Given the description of an element on the screen output the (x, y) to click on. 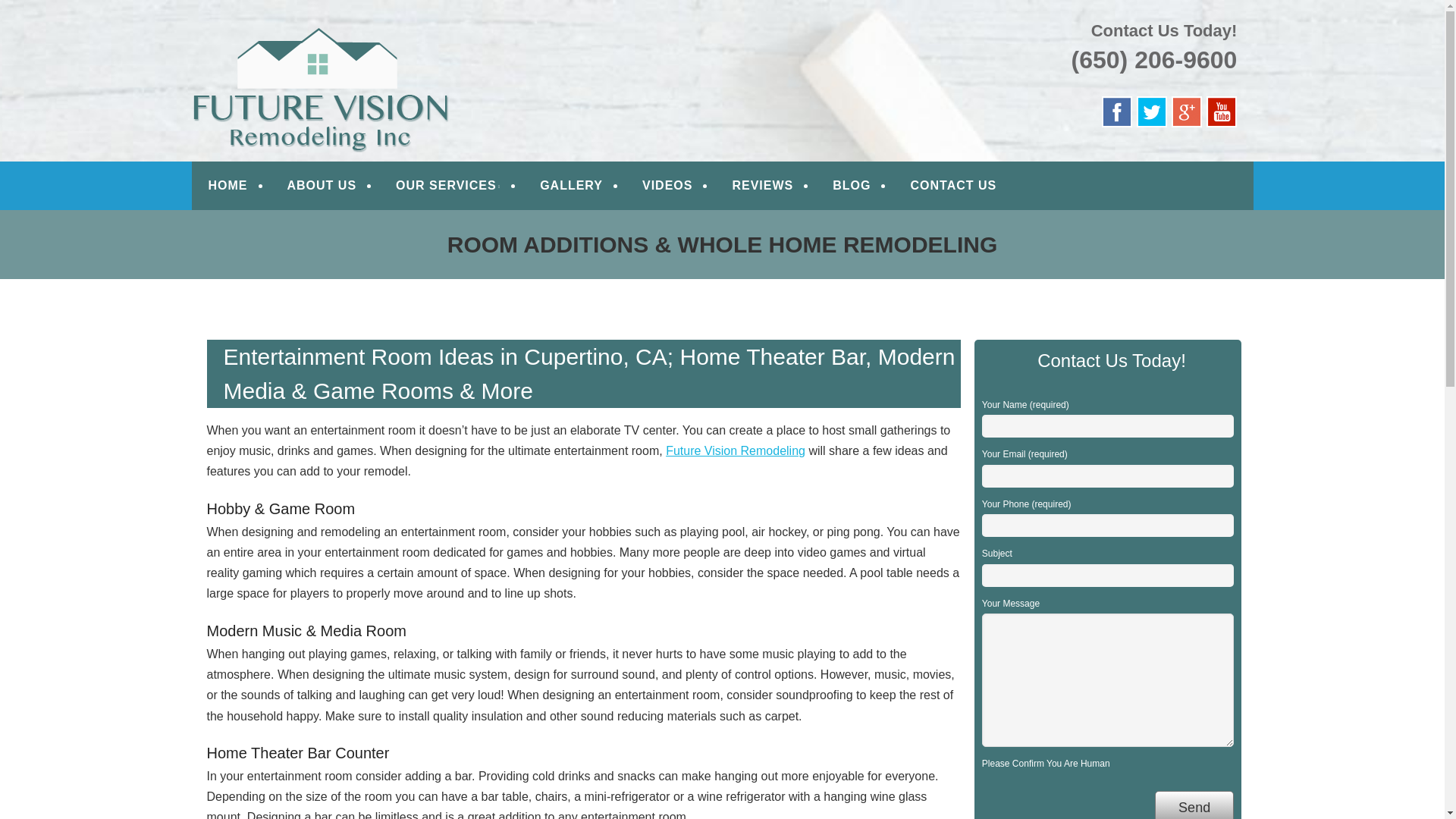
GALLERY (571, 185)
VIDEOS (667, 185)
Send (1193, 805)
CONTACT US (953, 185)
Future Vision Remodeling (412, 32)
BLOG (851, 185)
FUTURE VISION REMODELING (412, 32)
OUR SERVICES (448, 185)
Send (1193, 805)
Future Vision Remodeling (735, 450)
